Given the description of an element on the screen output the (x, y) to click on. 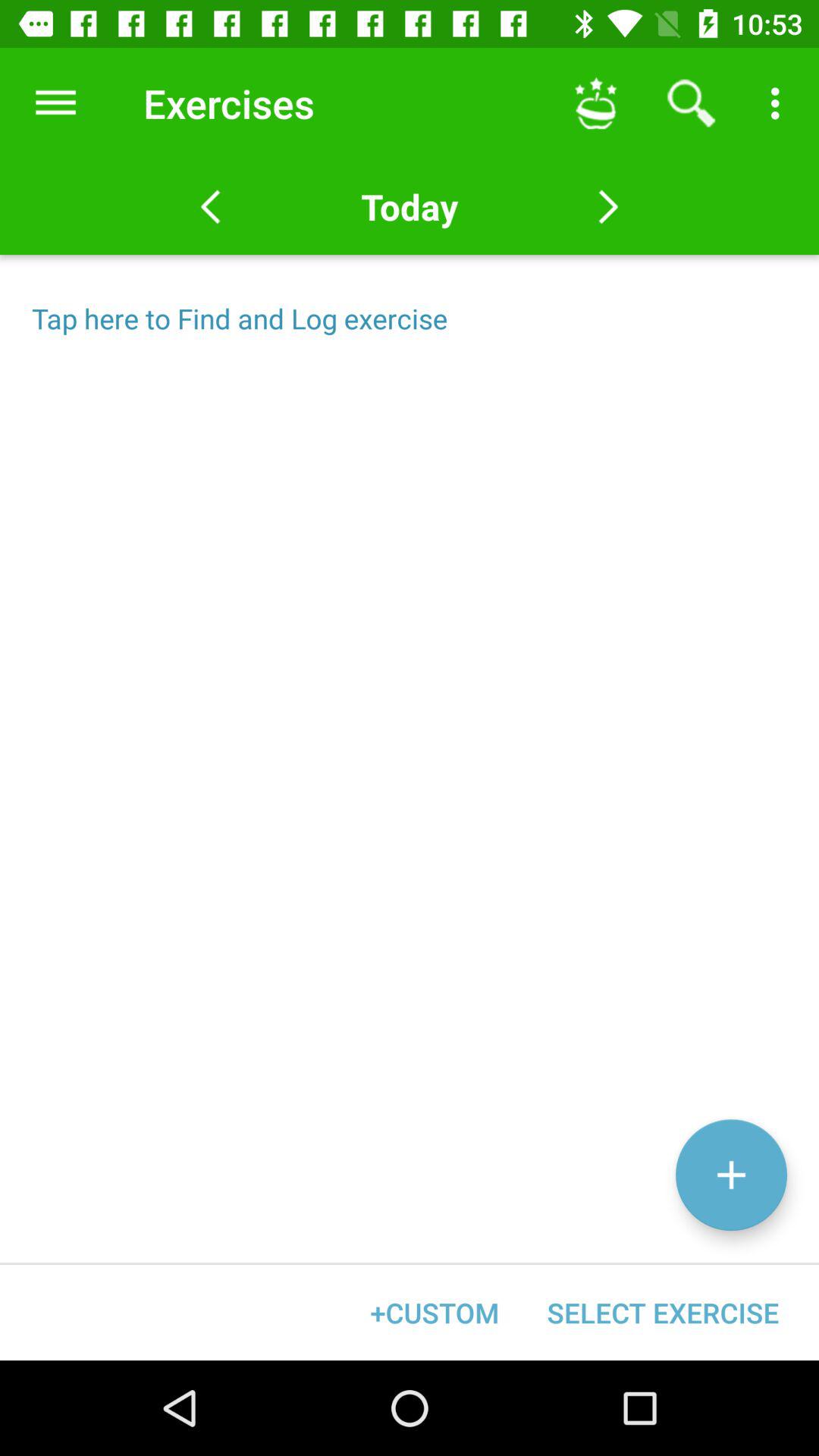
turn on item to the right of the +custom (663, 1312)
